Given the description of an element on the screen output the (x, y) to click on. 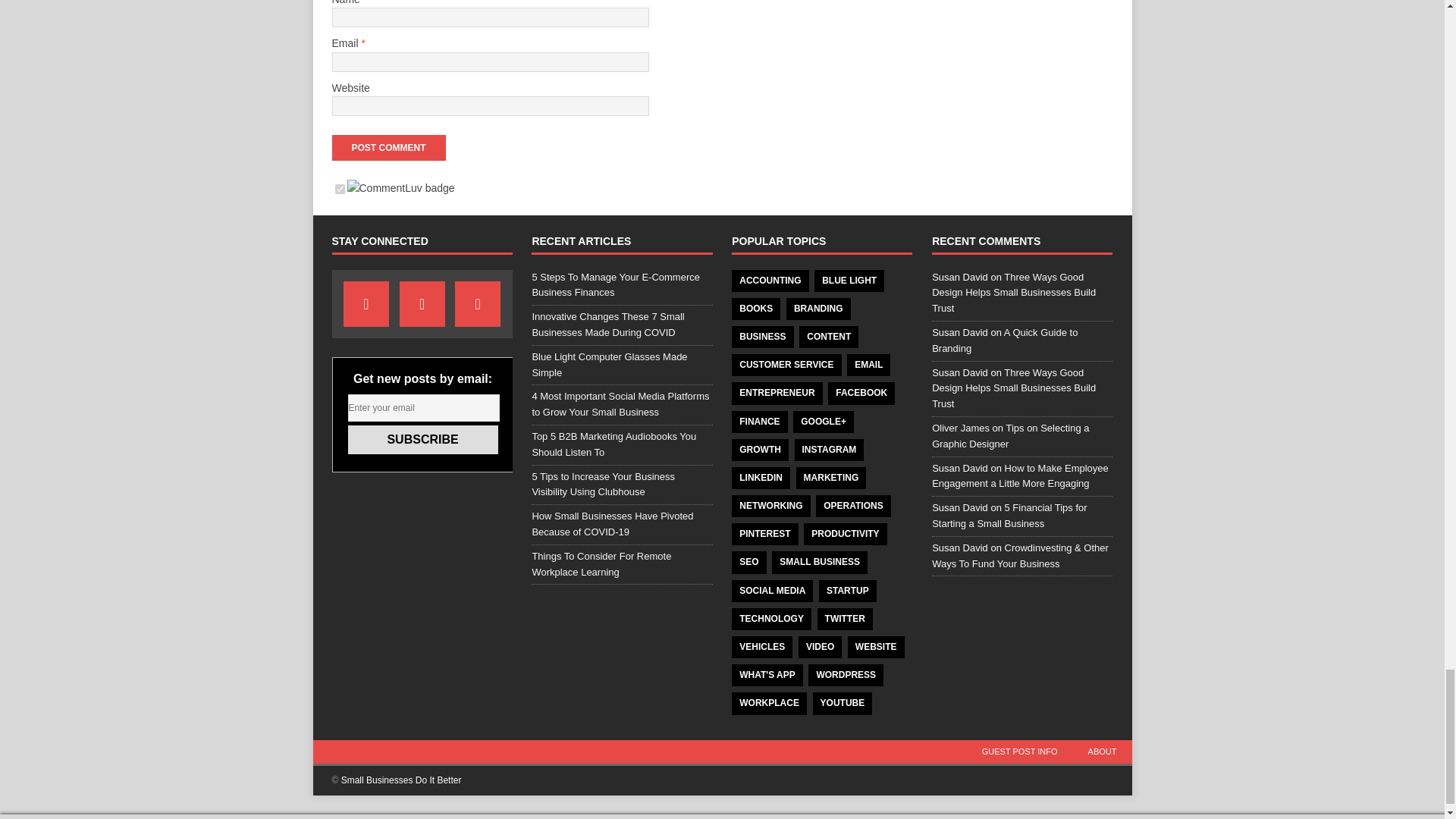
Subscribe (422, 439)
Post Comment (388, 147)
on (339, 189)
